Given the description of an element on the screen output the (x, y) to click on. 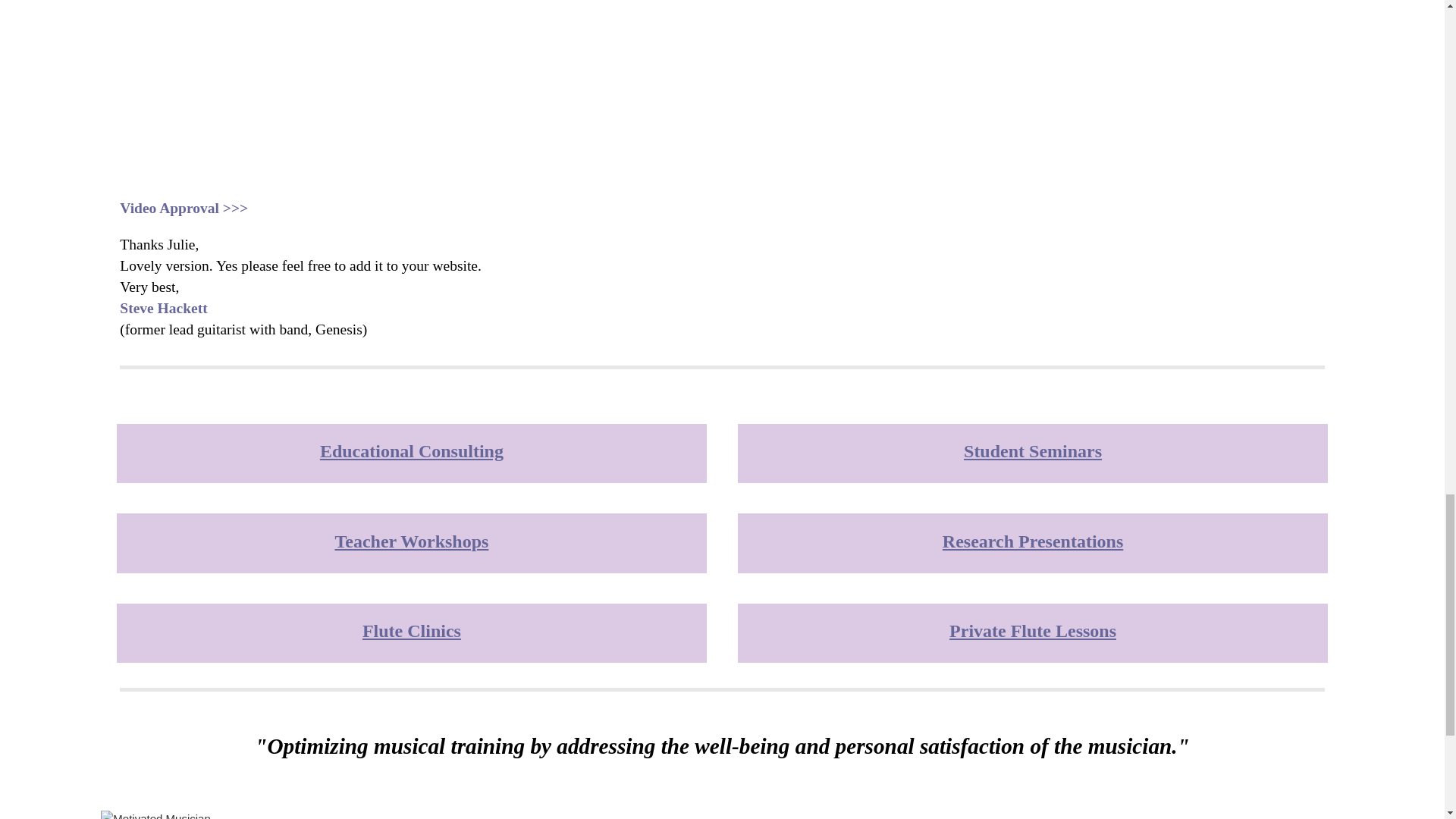
Educational Consulting (411, 451)
Research Presentations (1032, 541)
Student Seminars (1032, 451)
Flute Clinics (411, 630)
Teacher Workshops (410, 541)
Private Flute Lessons (1032, 630)
